Given the description of an element on the screen output the (x, y) to click on. 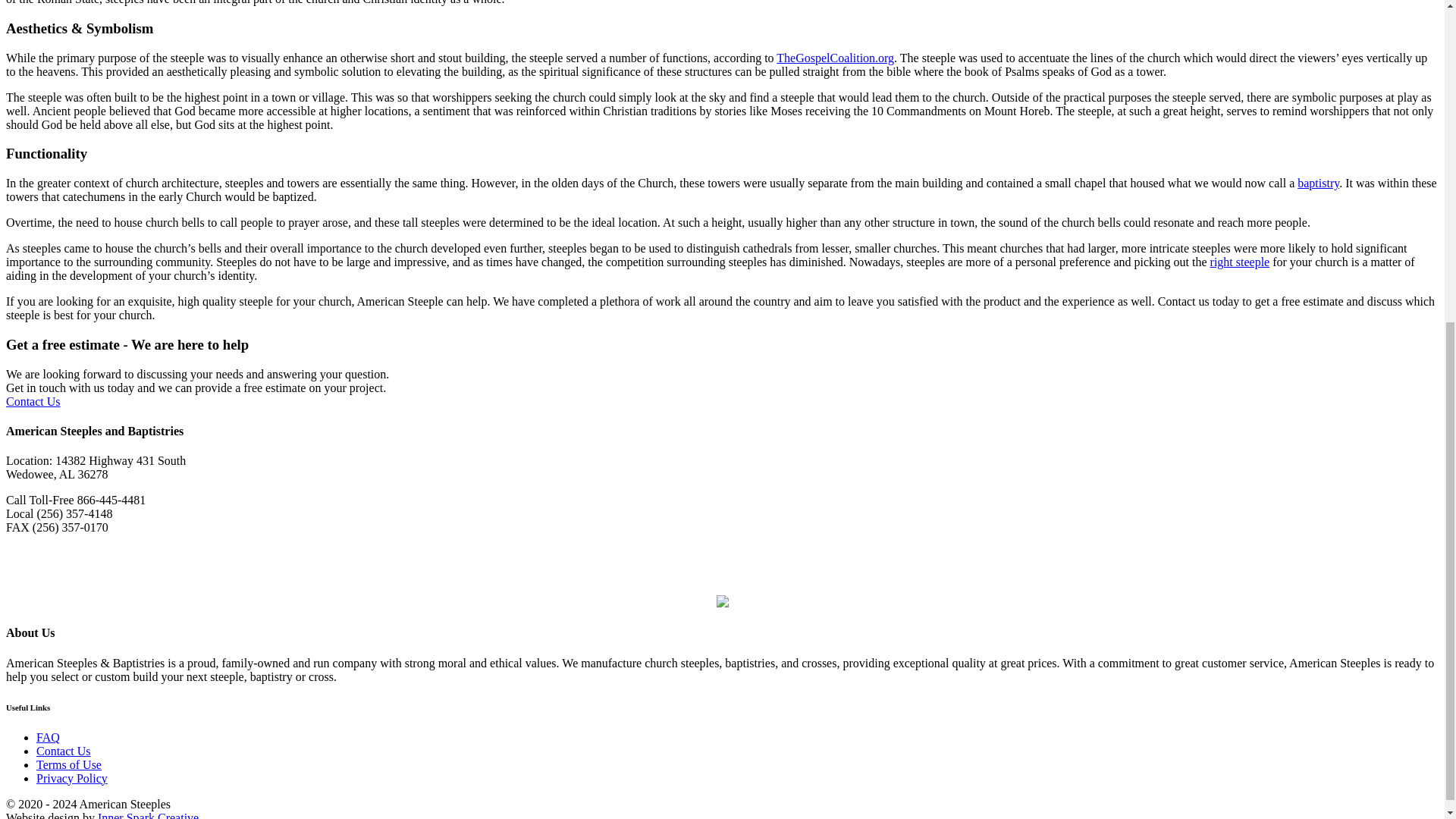
Contact Us (63, 750)
Privacy Policy (71, 778)
Terms of Use (68, 764)
right steeple (1239, 261)
FAQ (47, 737)
FAQ (47, 737)
baptistry (1318, 182)
Contact Us (63, 750)
Contact Us (33, 400)
TheGospelCoalition.org (834, 57)
